Given the description of an element on the screen output the (x, y) to click on. 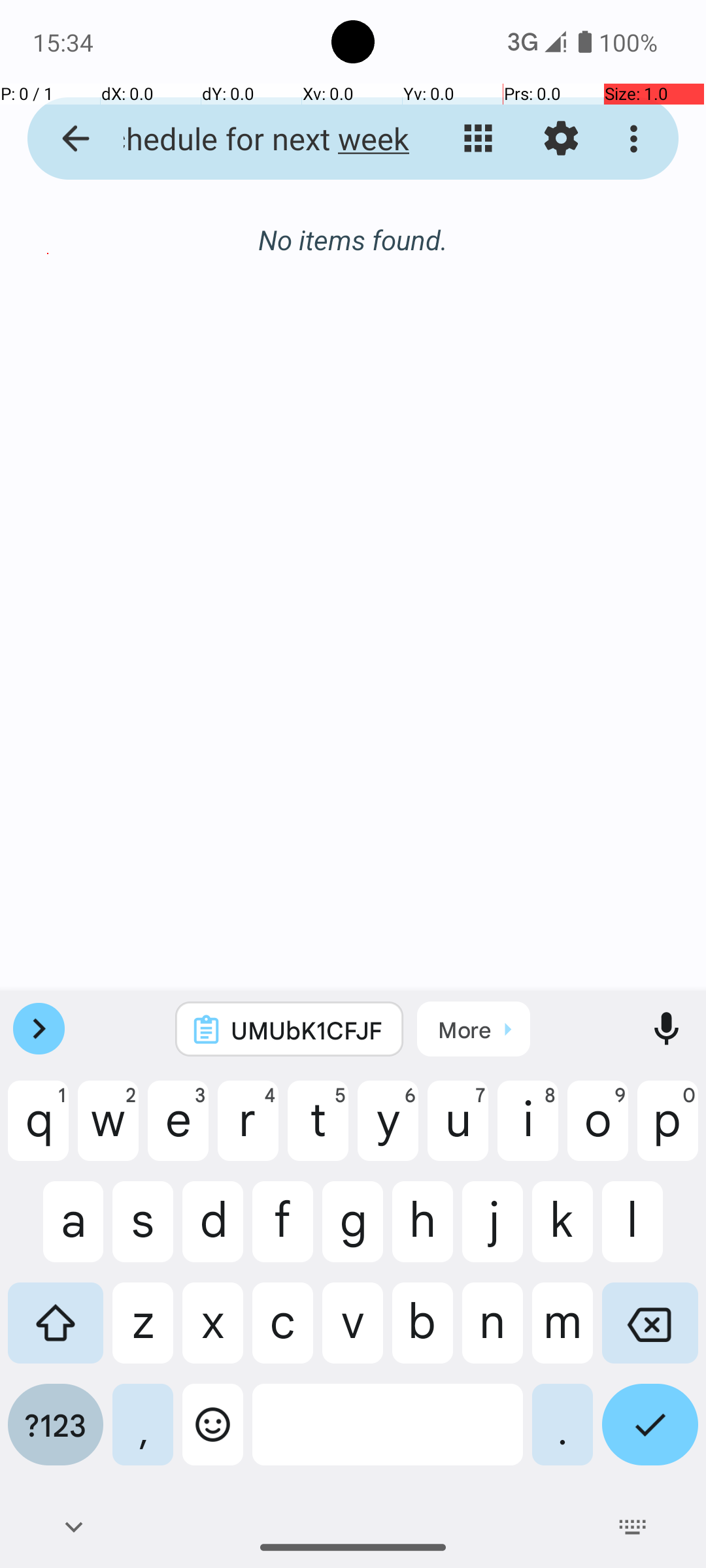
Meeting schedule for next week Element type: android.widget.EditText (252, 138)
October 15 (Sun) Element type: android.widget.TextView (352, 253)
